Given the description of an element on the screen output the (x, y) to click on. 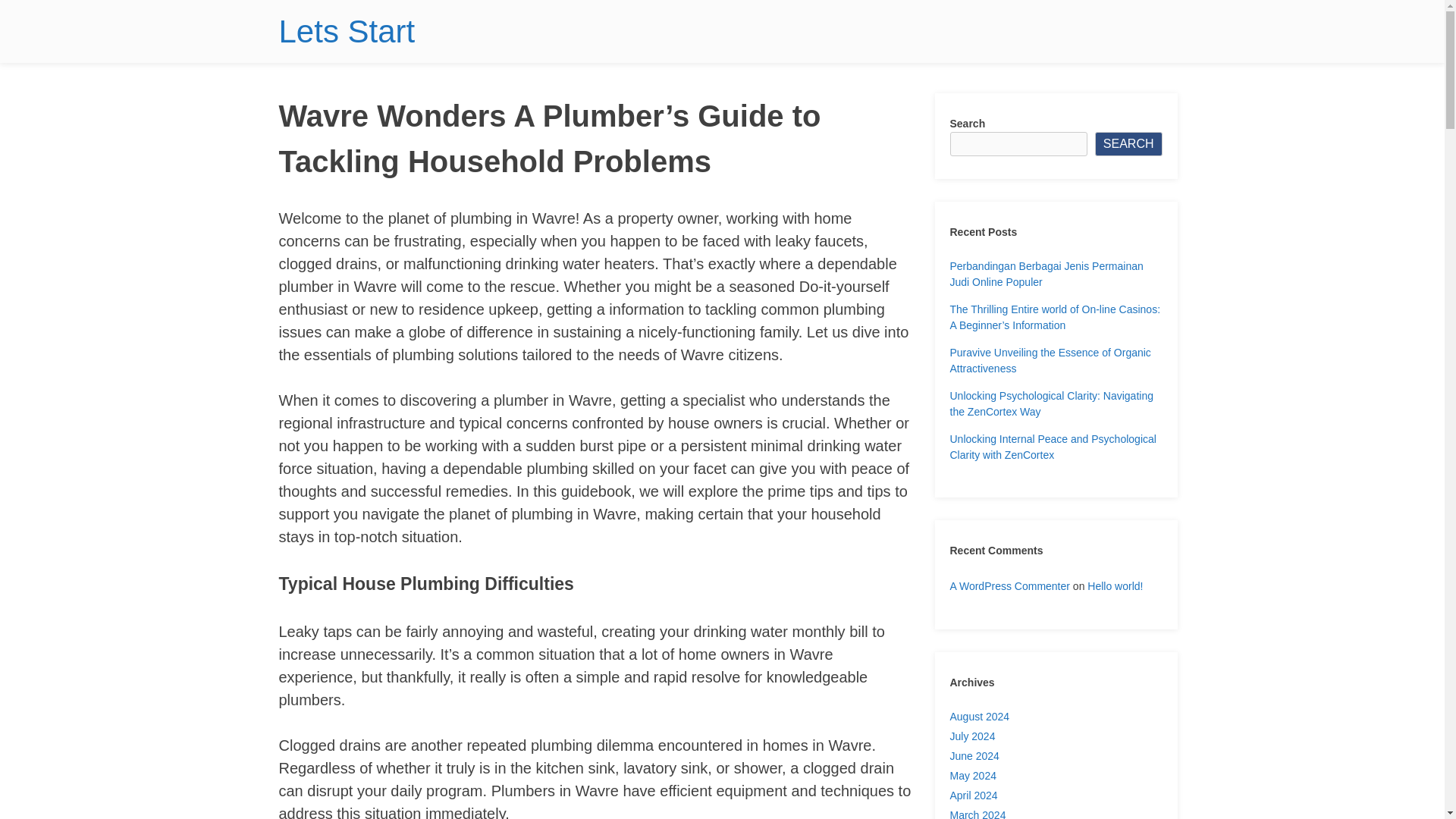
Puravive Unveiling the Essence of Organic Attractiveness (1049, 360)
Lets Start (346, 31)
Perbandingan Berbagai Jenis Permainan Judi Online Populer (1045, 274)
SEARCH (1127, 143)
May 2024 (972, 775)
April 2024 (973, 795)
A WordPress Commenter (1008, 585)
March 2024 (977, 814)
July 2024 (971, 736)
